Given the description of an element on the screen output the (x, y) to click on. 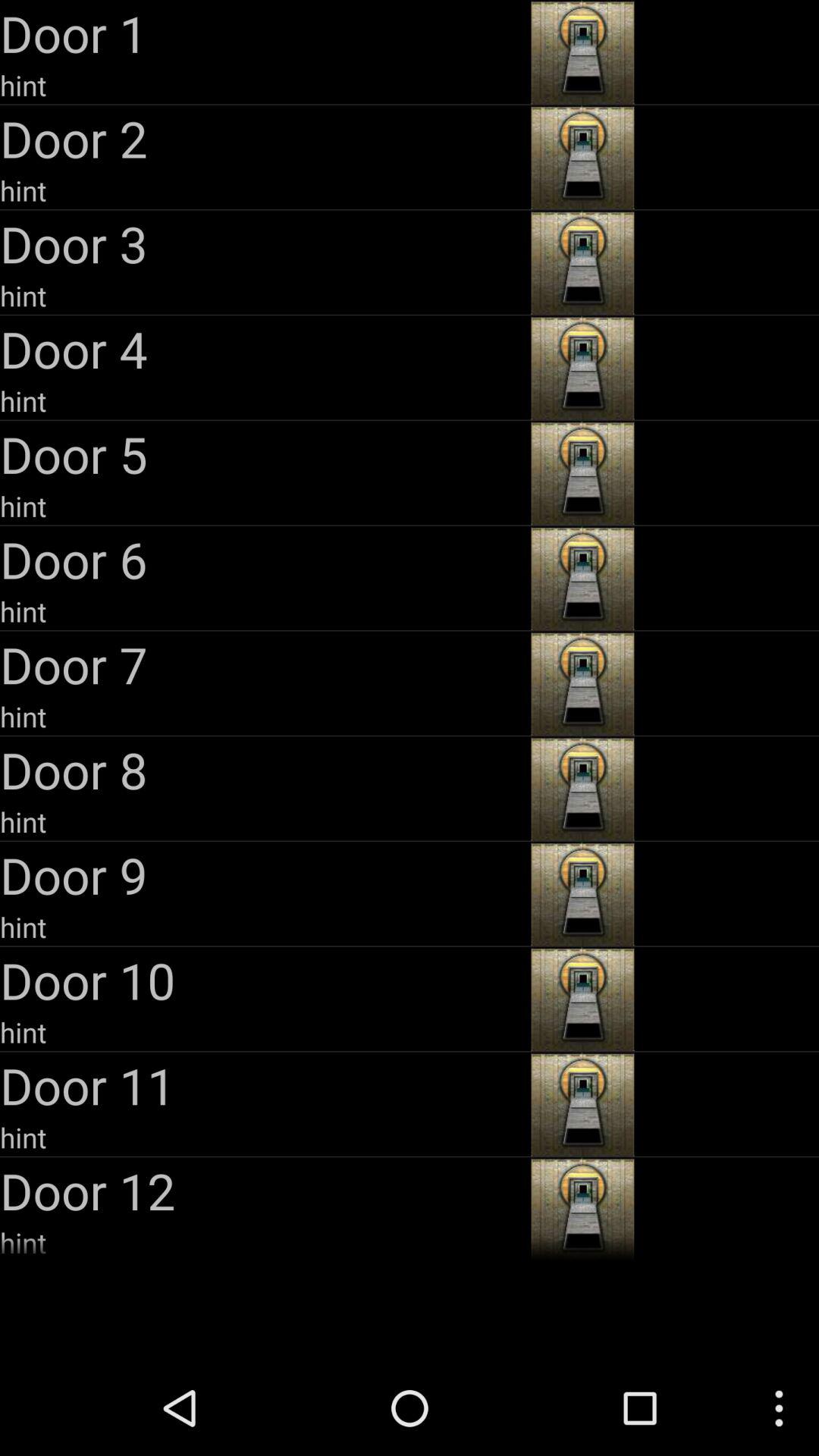
choose item below the hint icon (263, 874)
